Given the description of an element on the screen output the (x, y) to click on. 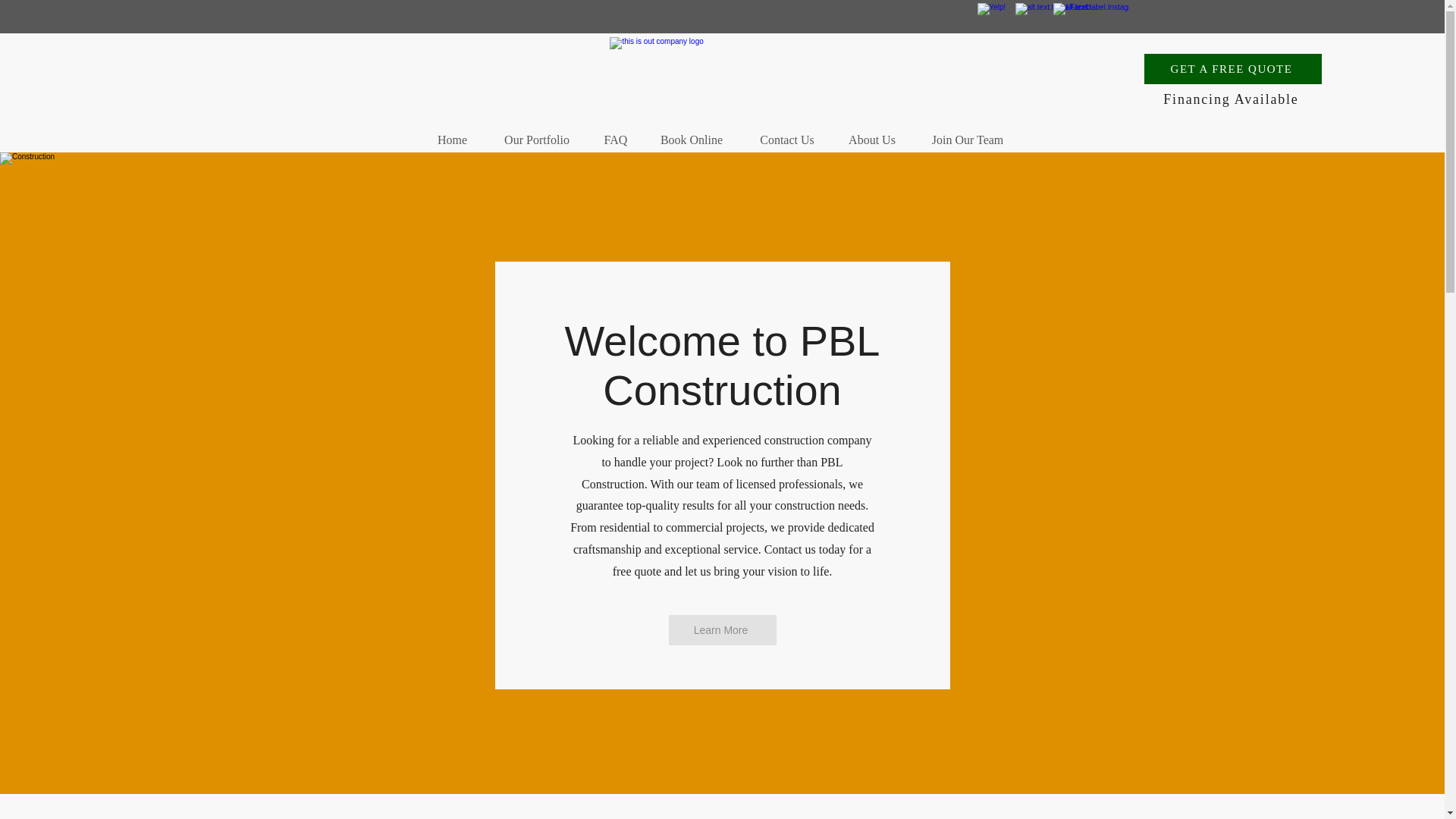
Join Our Team (967, 133)
Learn More (722, 630)
Home (451, 133)
FAQ (615, 133)
GET A FREE QUOTE (1233, 69)
About Us (871, 133)
Book Online (691, 133)
Contact Us (786, 133)
Financing Available (1232, 99)
Our Portfolio (536, 133)
